Given the description of an element on the screen output the (x, y) to click on. 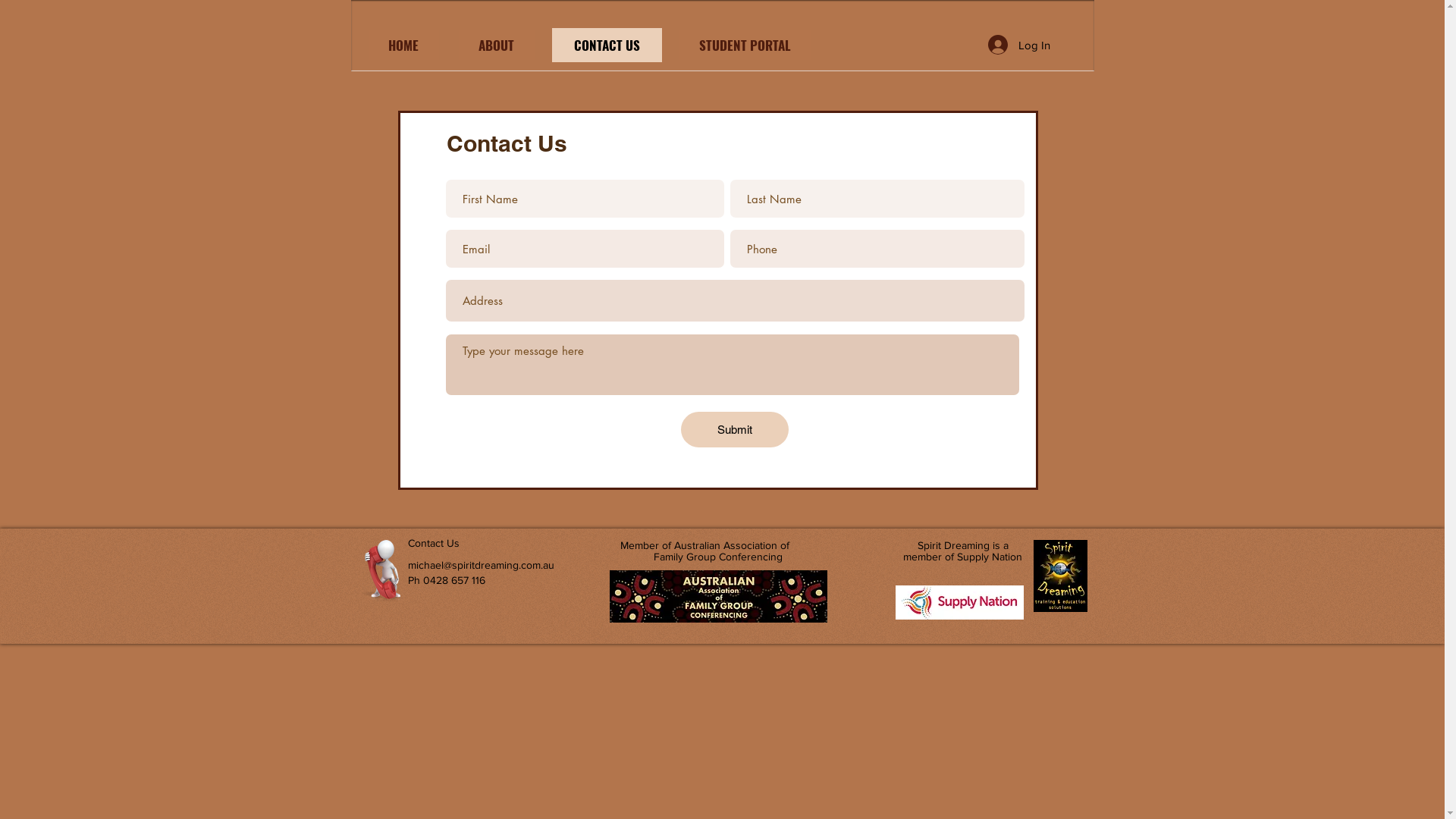
CONTACT US Element type: text (607, 45)
Submit Element type: text (734, 429)
michael@spiritdreaming.com.au Element type: text (480, 564)
HOME Element type: text (402, 45)
ABOUT Element type: text (496, 45)
Log In Element type: text (1018, 44)
